Given the description of an element on the screen output the (x, y) to click on. 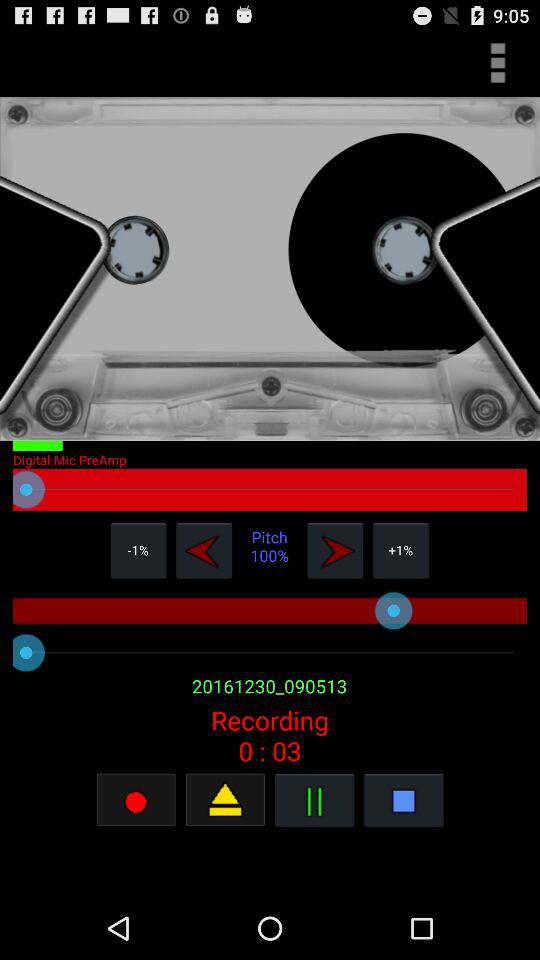
pitch down (204, 550)
